Given the description of an element on the screen output the (x, y) to click on. 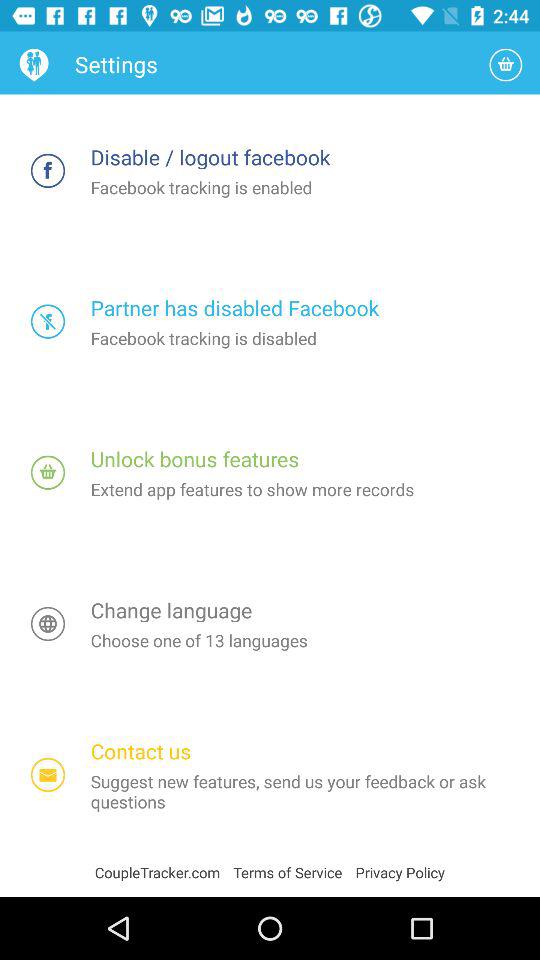
click icon below suggest new features item (399, 872)
